Given the description of an element on the screen output the (x, y) to click on. 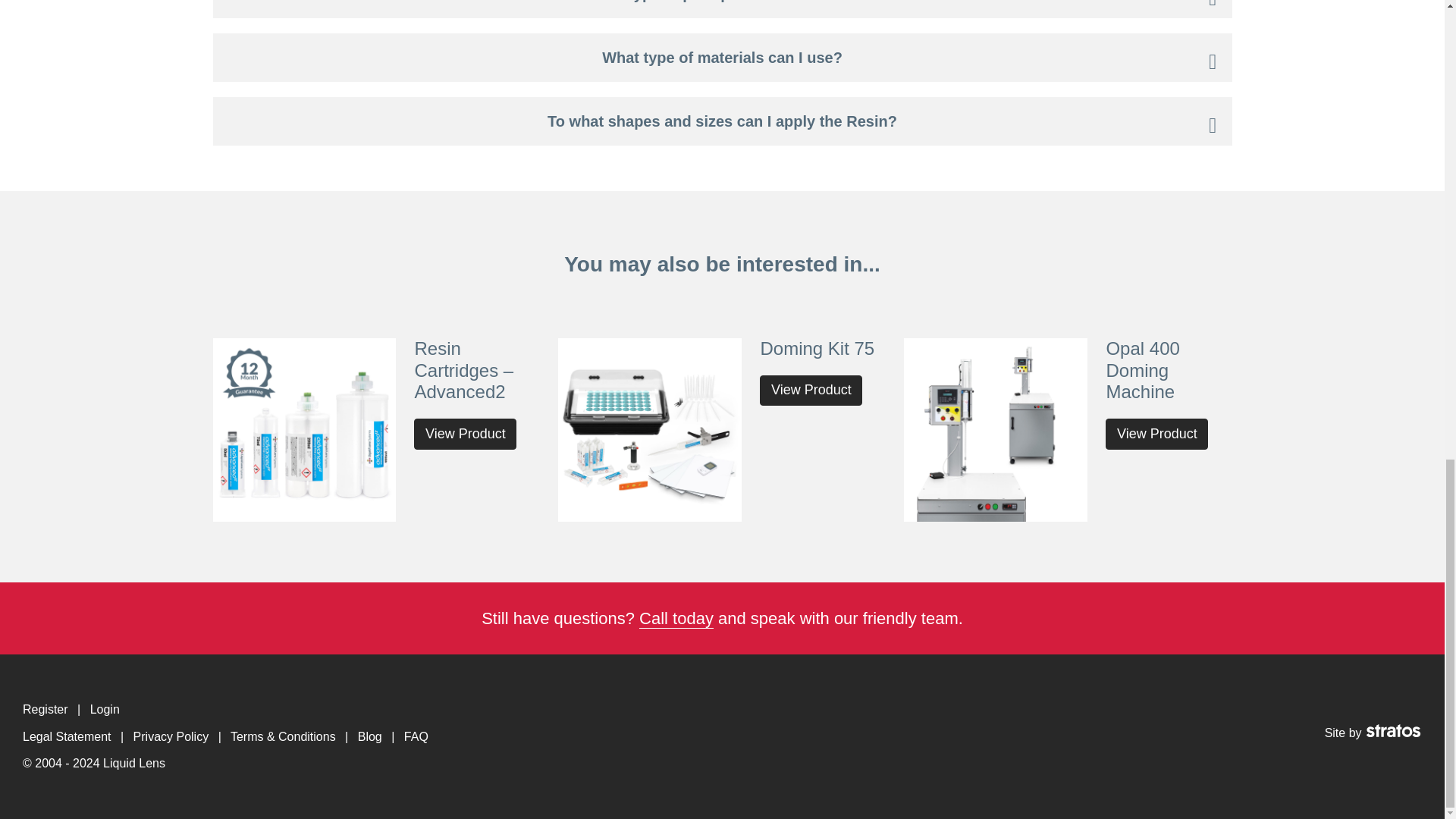
View Product (810, 390)
Login (104, 708)
Doming Kit 75 (817, 348)
View Product (1156, 433)
Blog (369, 736)
Call today (676, 618)
FAQ (416, 736)
Legal Statement (67, 736)
View Product (464, 433)
Privacy Policy (171, 736)
Opal 400 Doming Machine (1142, 370)
Register (45, 708)
Site by (1373, 732)
